Given the description of an element on the screen output the (x, y) to click on. 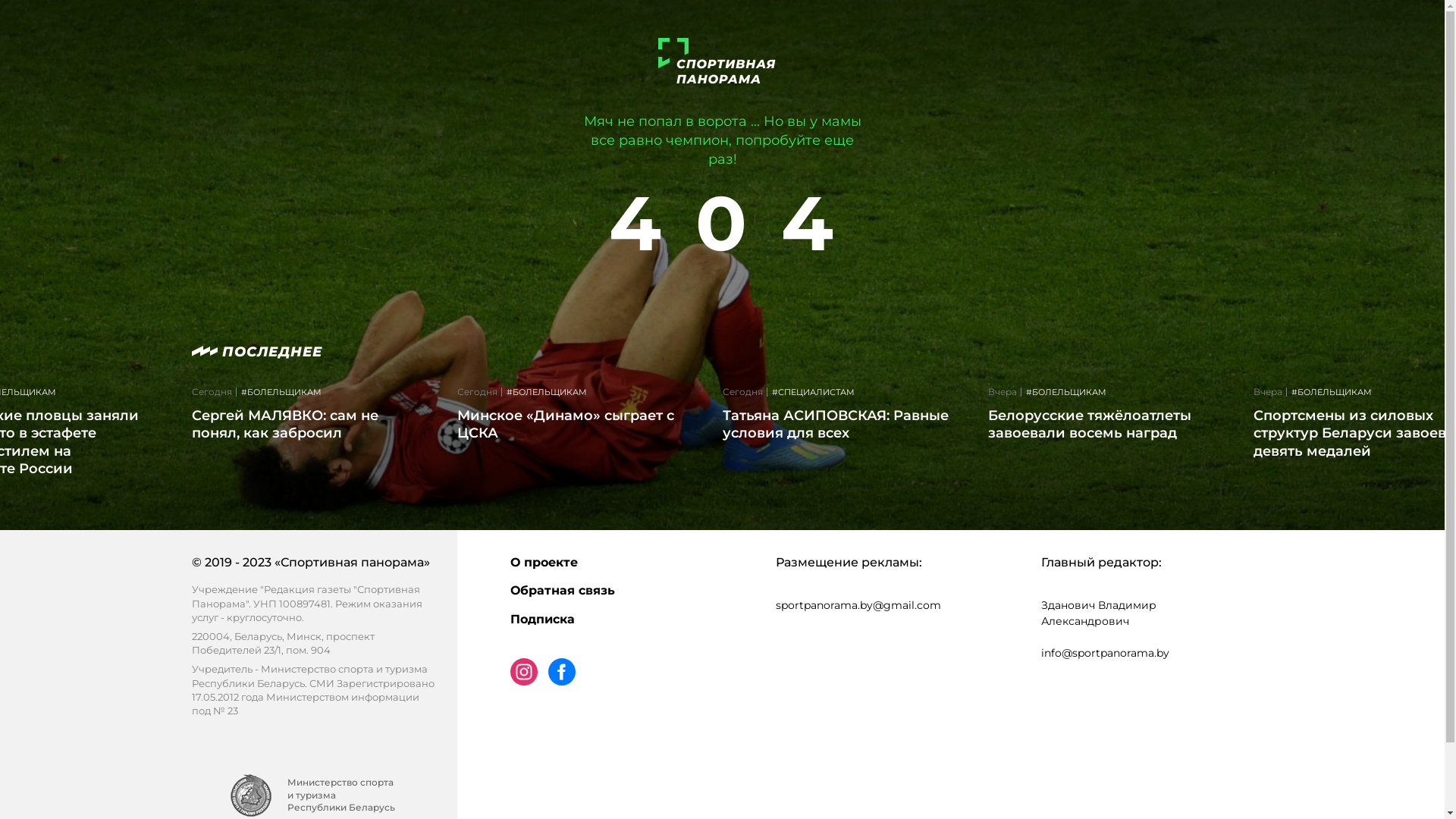
sportpanorama.by@gmail.com Element type: text (857, 604)
info@sportpanorama.by Element type: text (1104, 652)
